Given the description of an element on the screen output the (x, y) to click on. 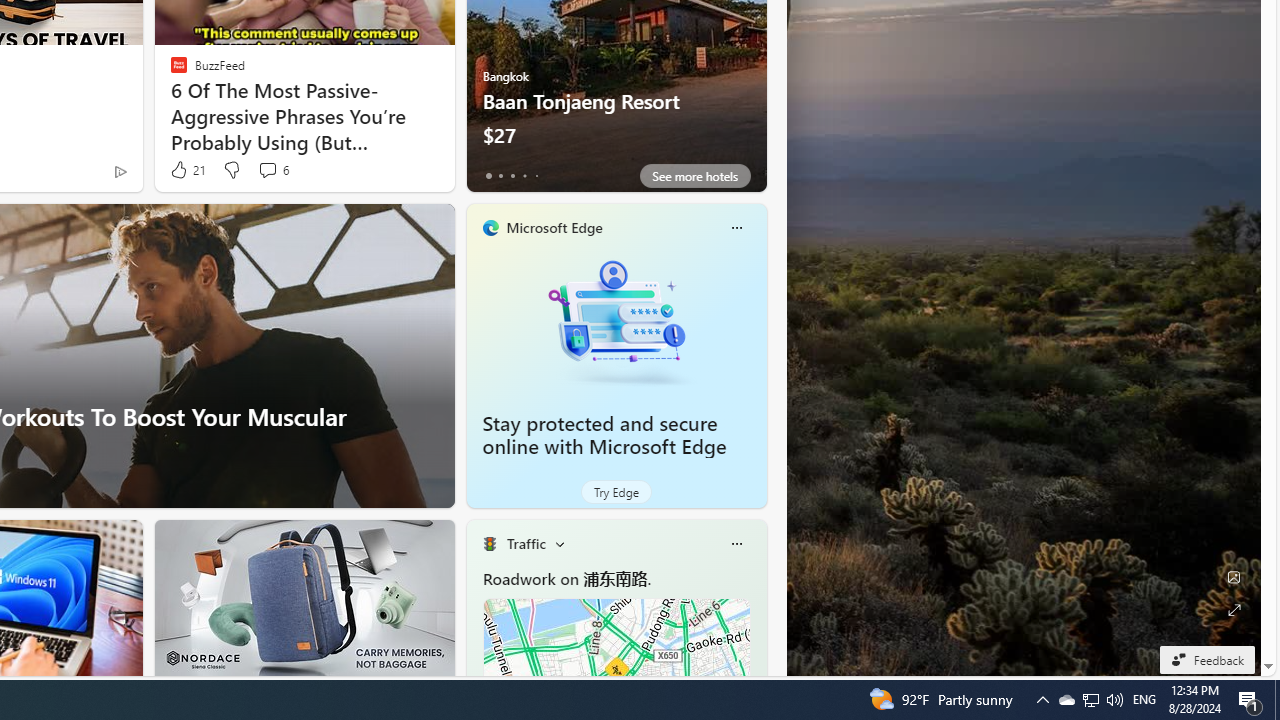
See more hotels (694, 175)
Stay protected and secure online with Microsoft Edge (616, 321)
View comments 6 Comment (272, 170)
Expand background (1233, 610)
tab-3 (524, 175)
